Given the description of an element on the screen output the (x, y) to click on. 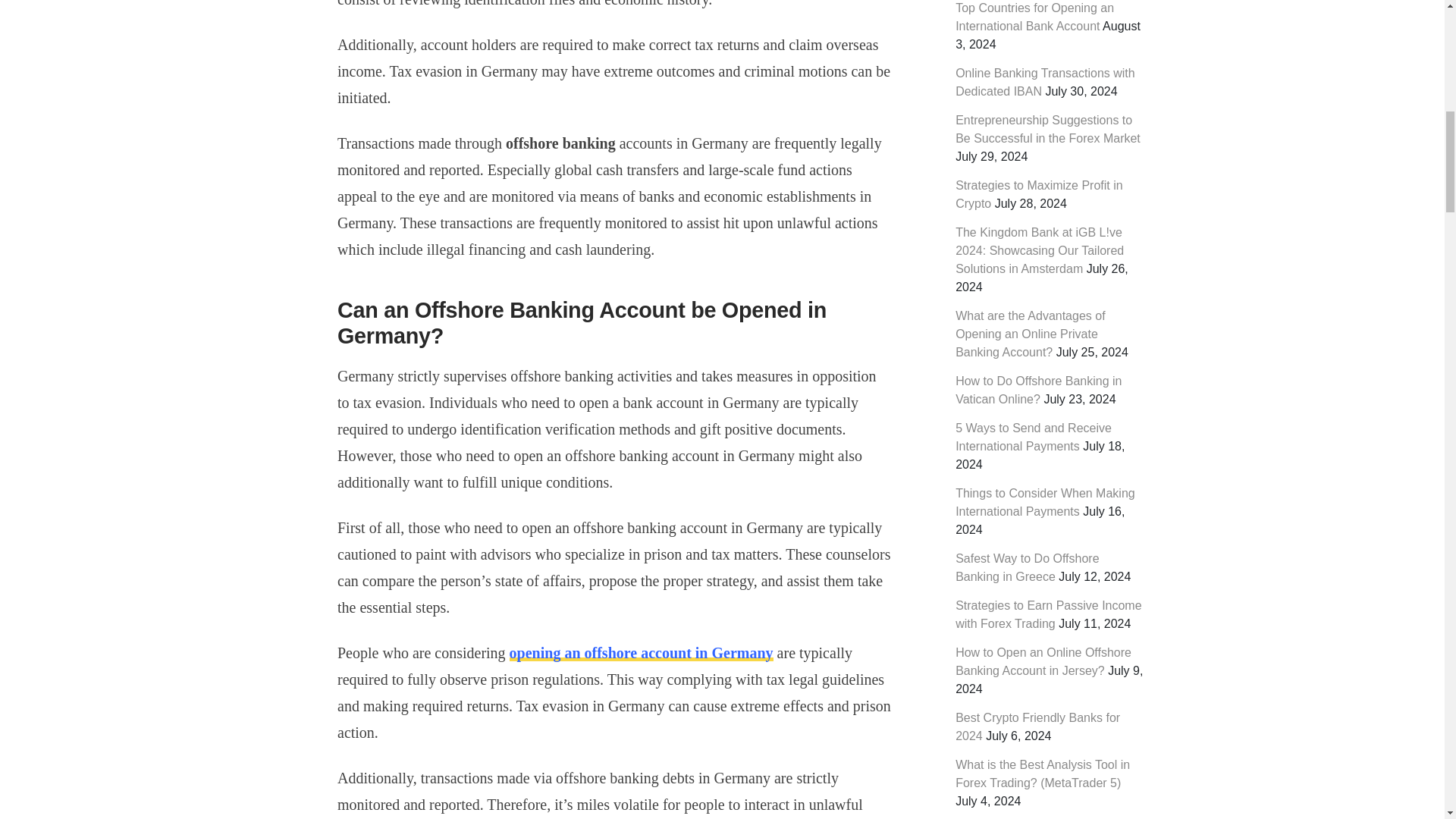
Things to Consider When Making International Payments (1045, 501)
Strategies to Earn Passive Income with Forex Trading (1048, 613)
How to Open an Online Offshore Banking Account in Jersey? (1043, 661)
5 Ways to Send and Receive International Payments (1033, 436)
Online Banking Transactions with Dedicated IBAN (1045, 81)
opening an offshore account in Germany (641, 652)
How to Do Offshore Banking in Vatican Online? (1038, 389)
Top Countries for Opening an International Bank Account (1034, 16)
Strategies to Maximize Profit in Crypto (1038, 194)
